Given the description of an element on the screen output the (x, y) to click on. 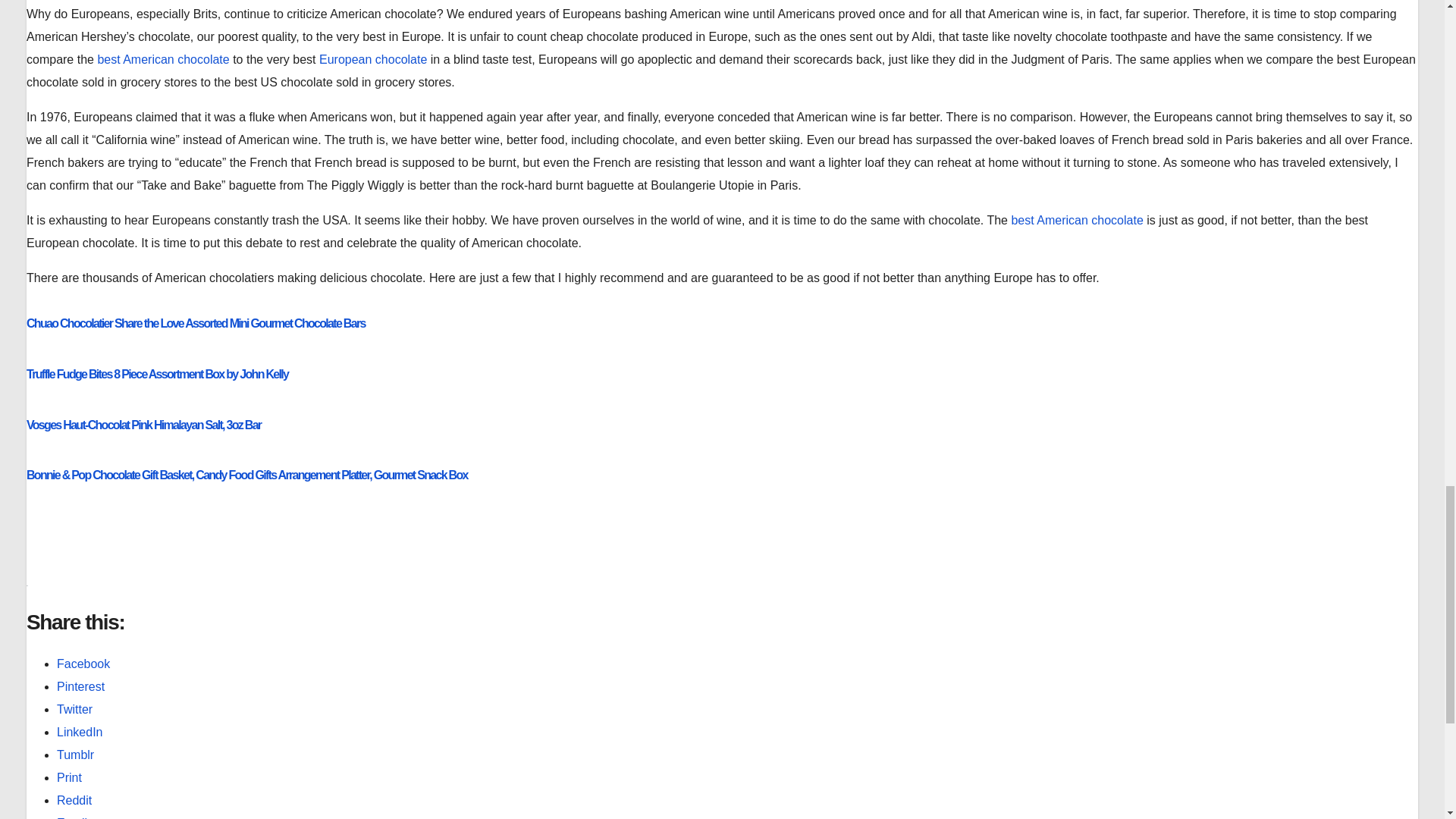
European chocolate (371, 59)
best American chocolate (162, 59)
best American chocolate (1074, 219)
